Given the description of an element on the screen output the (x, y) to click on. 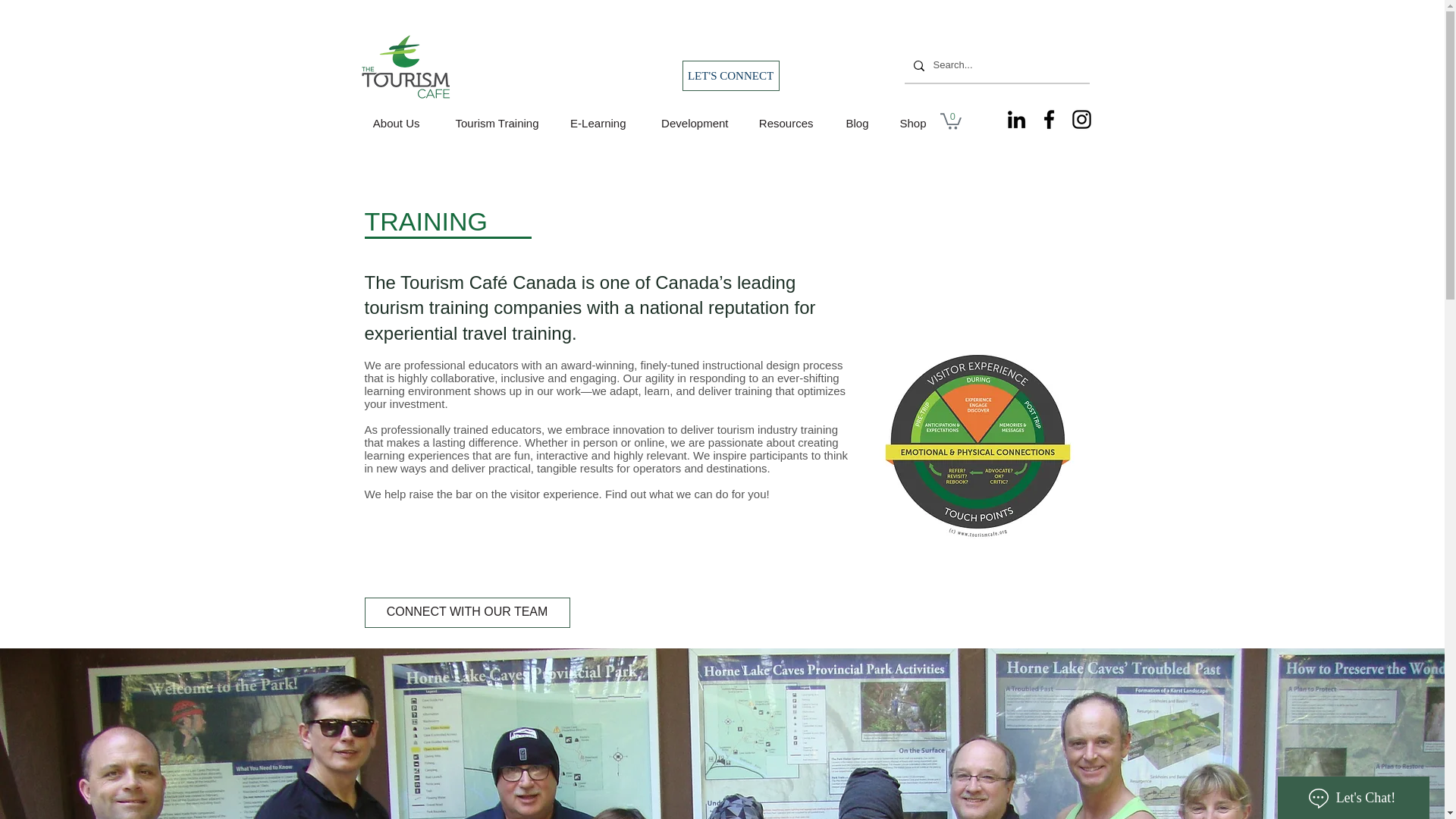
E-Learning (593, 122)
Resources (782, 122)
Shop (908, 122)
Tourism Training (490, 122)
About Us (390, 122)
CONNECT WITH OUR TEAM (466, 612)
0 (950, 120)
0 (950, 120)
Blog (852, 122)
Development (688, 122)
LET'S CONNECT (730, 75)
